Given the description of an element on the screen output the (x, y) to click on. 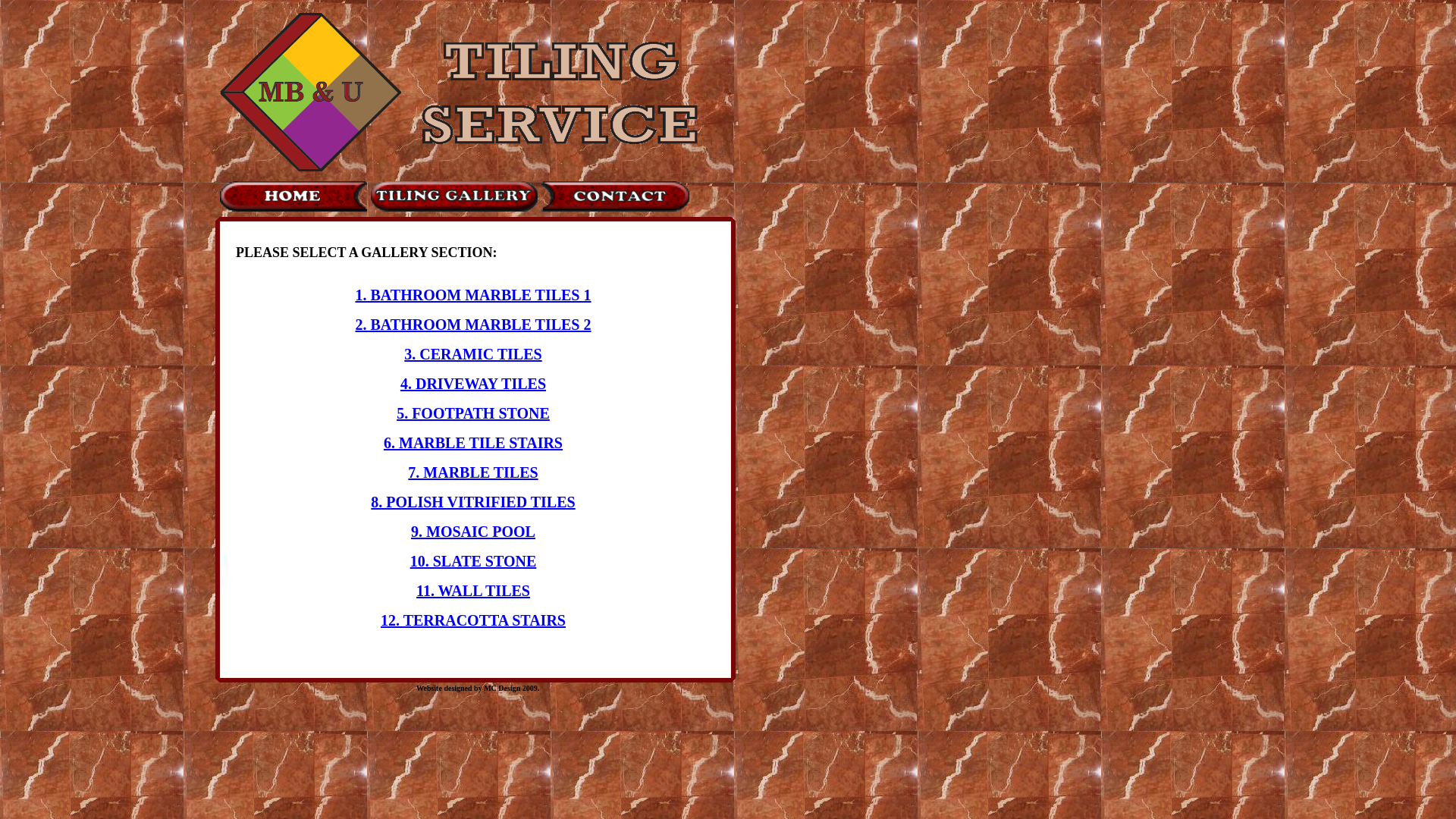
9. MOSAIC POOL Element type: text (473, 531)
2. BATHROOM MARBLE TILES 2 Element type: text (472, 324)
10. SLATE STONE Element type: text (473, 560)
11. WALL TILES Element type: text (473, 590)
12. TERRACOTTA STAIRS Element type: text (472, 619)
6. MARBLE TILE STAIRS Element type: text (472, 442)
1. BATHROOM MARBLE TILES 1 Element type: text (472, 294)
7. MARBLE TILES Element type: text (472, 472)
3. CERAMIC TILES Element type: text (472, 353)
5. FOOTPATH STONE Element type: text (472, 412)
8. POLISH VITRIFIED TILES Element type: text (472, 501)
4. DRIVEWAY TILES Element type: text (473, 383)
